Given the description of an element on the screen output the (x, y) to click on. 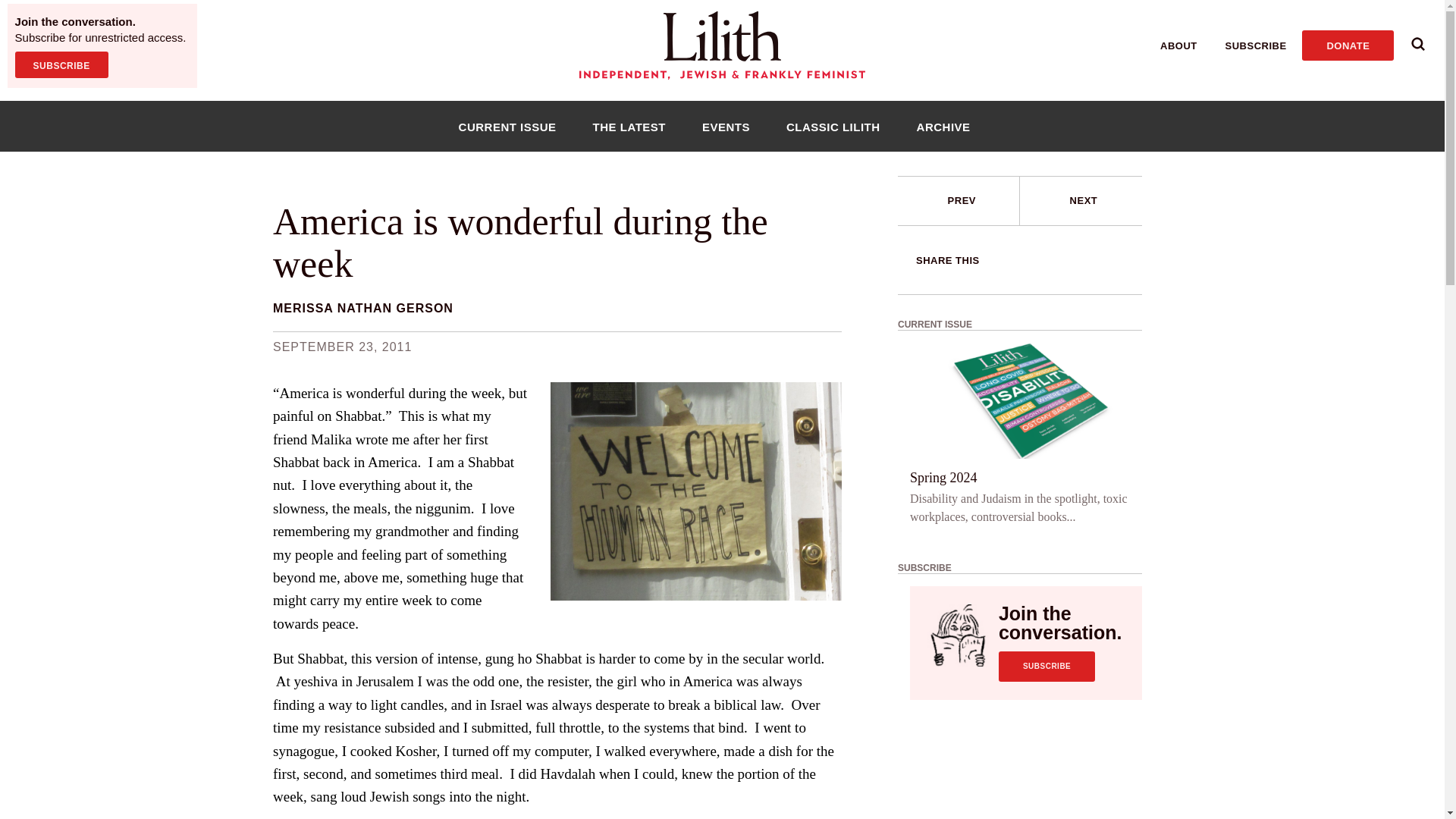
Posts by Merissa Nathan Gerson (362, 308)
ARCHIVE (943, 126)
SUBSCRIBE (60, 64)
SUBSCRIBE (1255, 45)
EVENTS (726, 126)
NEXT (1080, 200)
ABOUT (1178, 45)
THE LATEST (628, 126)
NEXT (1083, 200)
CLASSIC LILITH (833, 126)
PREV (961, 200)
SUBSCRIBE (1046, 666)
PREV (959, 200)
Spring 2024 (943, 477)
MERISSA NATHAN GERSON (362, 308)
